Given the description of an element on the screen output the (x, y) to click on. 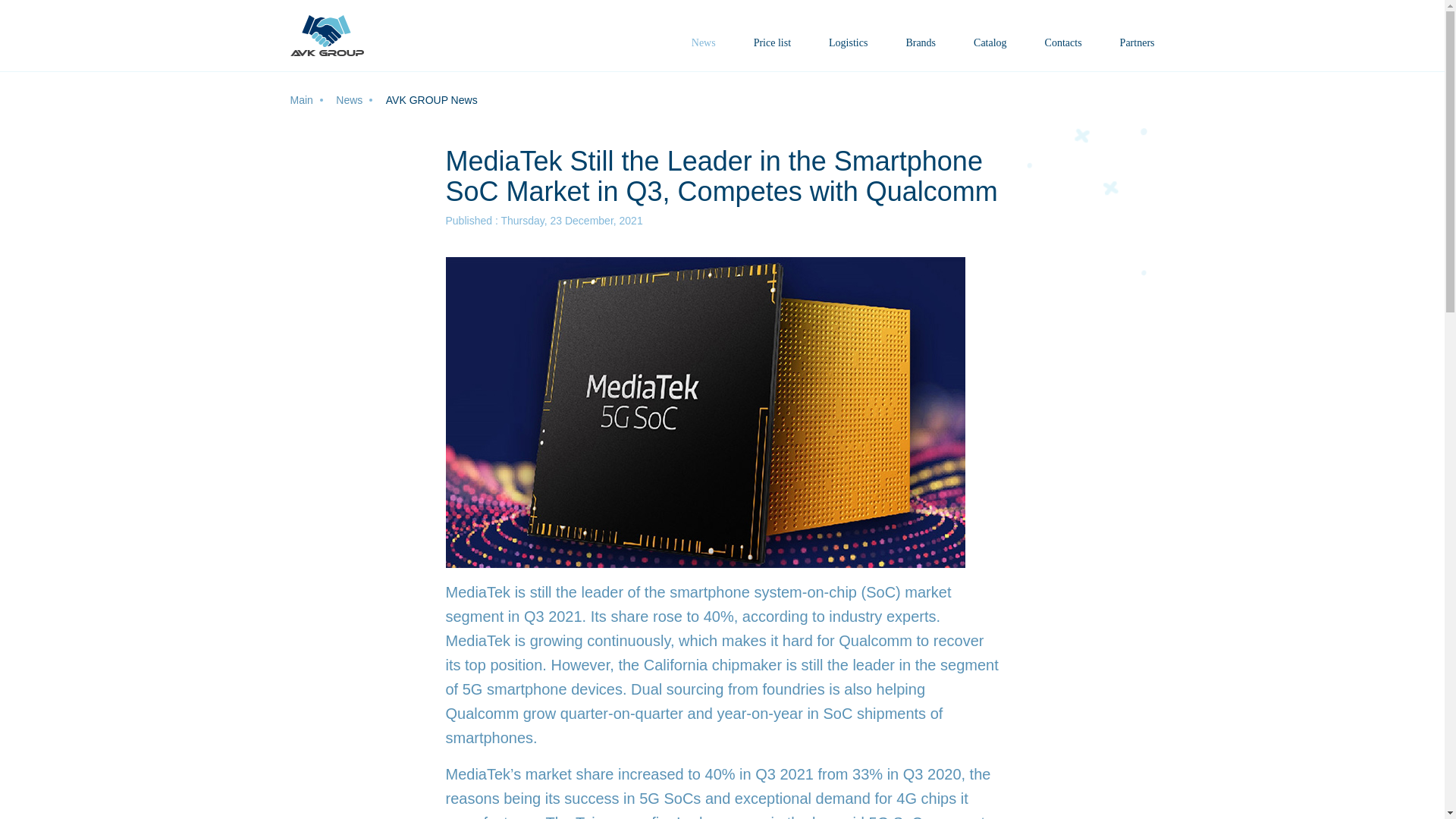
News (703, 46)
News (358, 100)
Partners (1136, 46)
Logistics (847, 46)
Brands (920, 46)
News (358, 100)
Price list (772, 46)
Main (310, 100)
Main (310, 100)
